Given the description of an element on the screen output the (x, y) to click on. 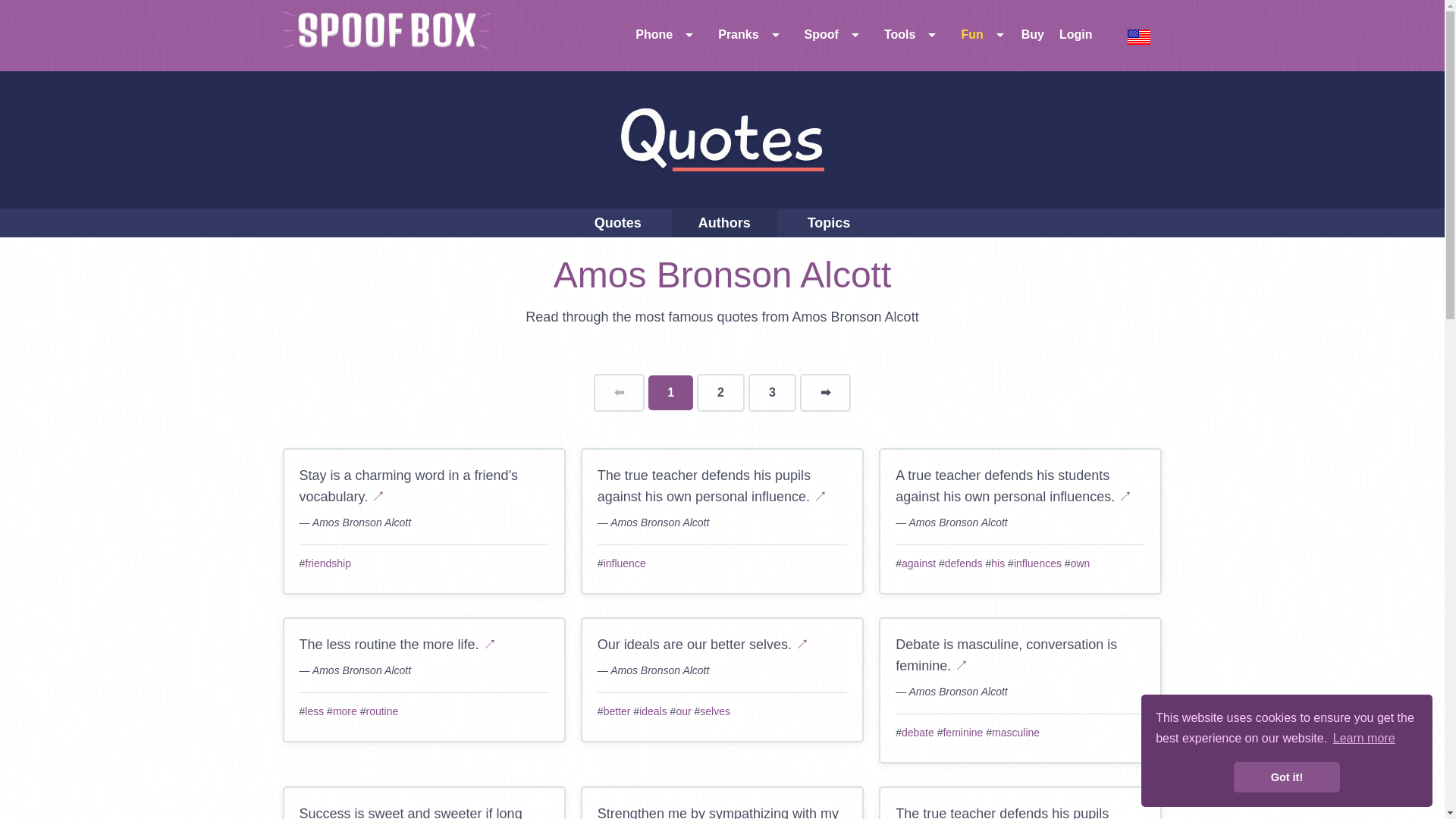
Got it! (1286, 777)
Quote: Stay is a charming word in a friend's vocabulary. (378, 496)
Change language (1138, 35)
Quote: Our ideals are our better selves. (801, 644)
Learn more (1363, 738)
Quote: The less routine the more life. (489, 644)
